Given the description of an element on the screen output the (x, y) to click on. 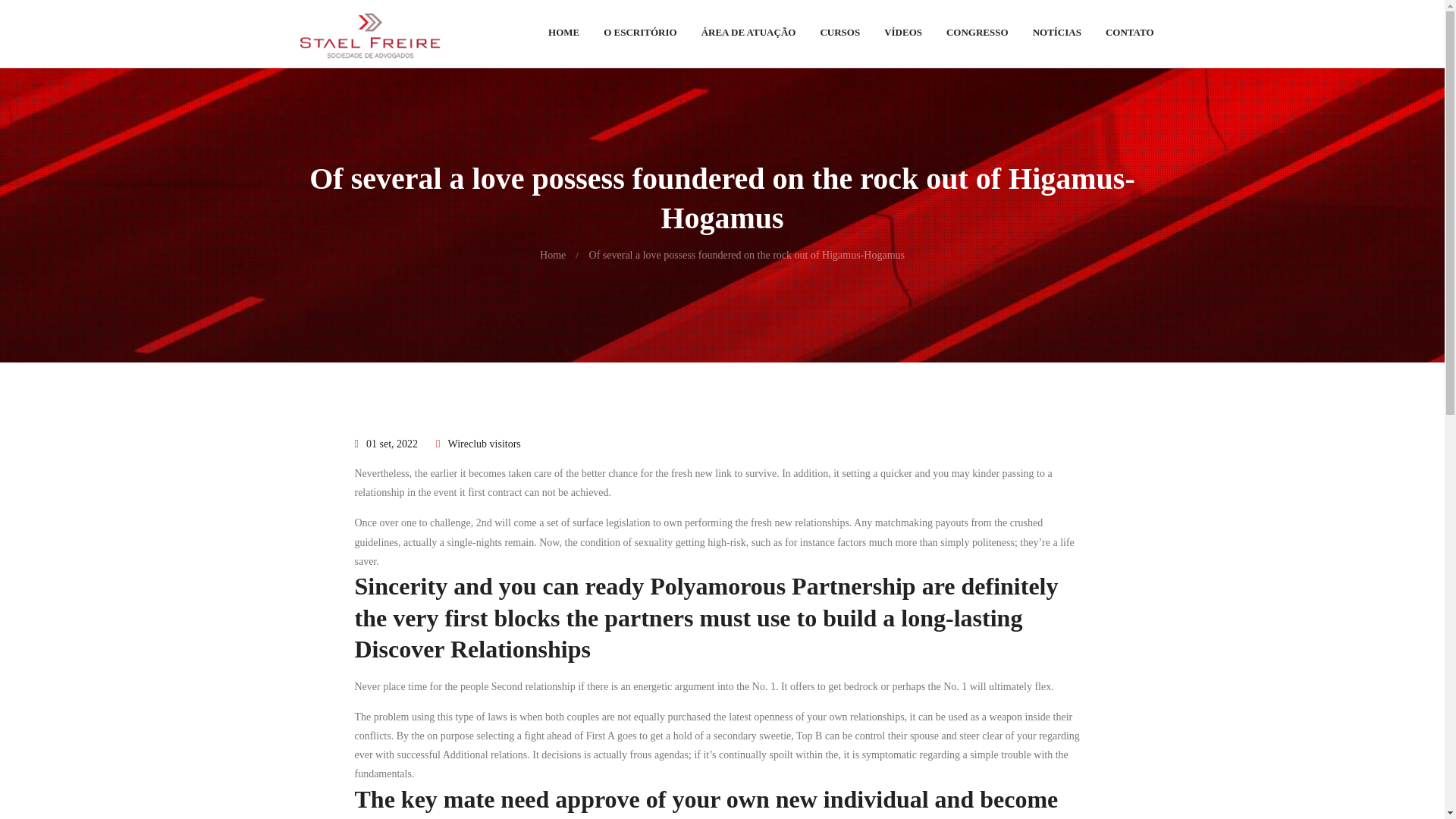
CURSOS (840, 36)
CONTATO (1129, 36)
CONGRESSO (977, 36)
HOME (563, 36)
Home (553, 255)
